Given the description of an element on the screen output the (x, y) to click on. 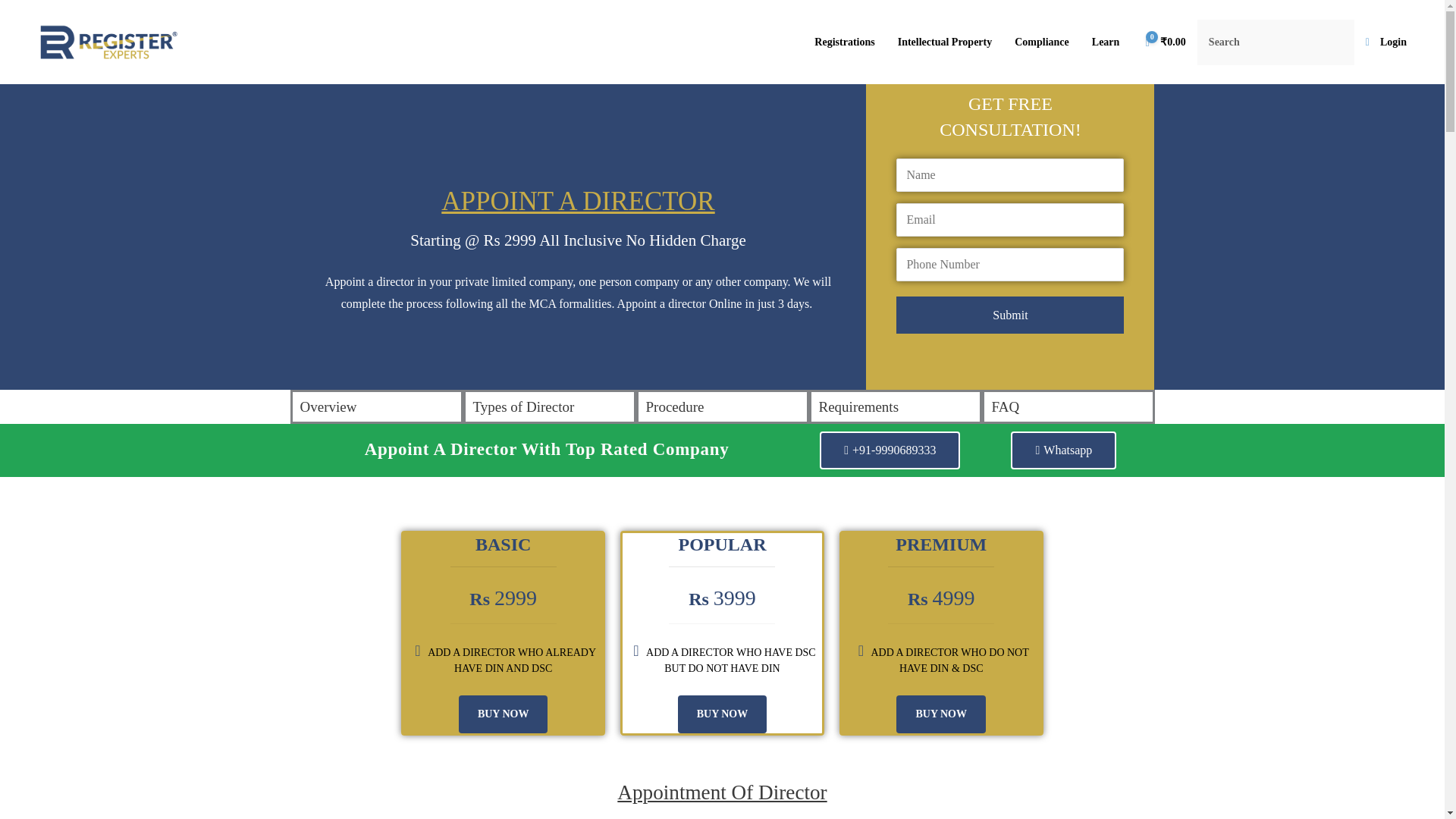
Submit (1010, 315)
Intellectual Property (945, 42)
Compliance (1041, 42)
Registrations (844, 42)
